Given the description of an element on the screen output the (x, y) to click on. 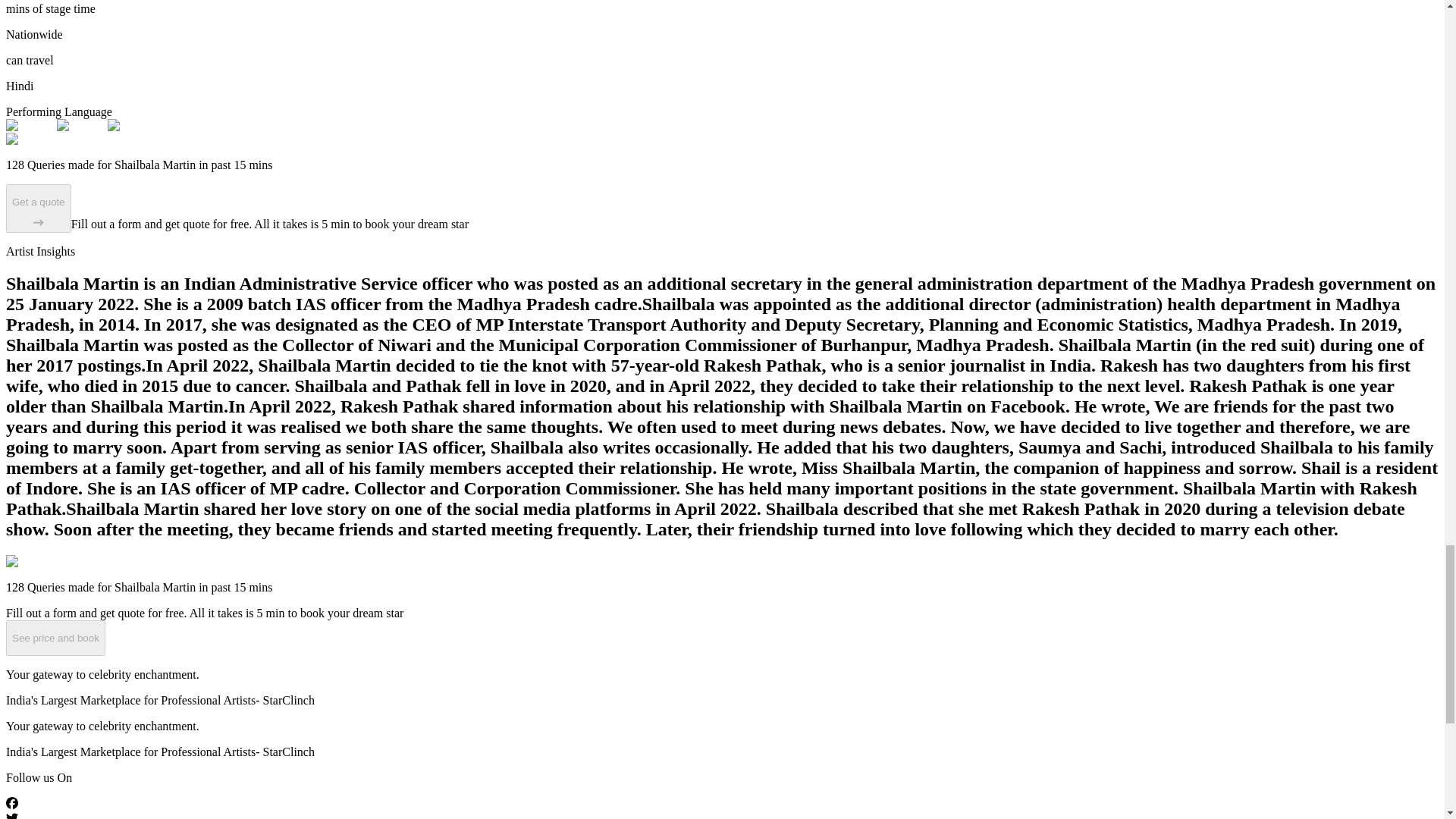
Get a quote (38, 208)
See price and book (54, 637)
See price and book (54, 636)
